Given the description of an element on the screen output the (x, y) to click on. 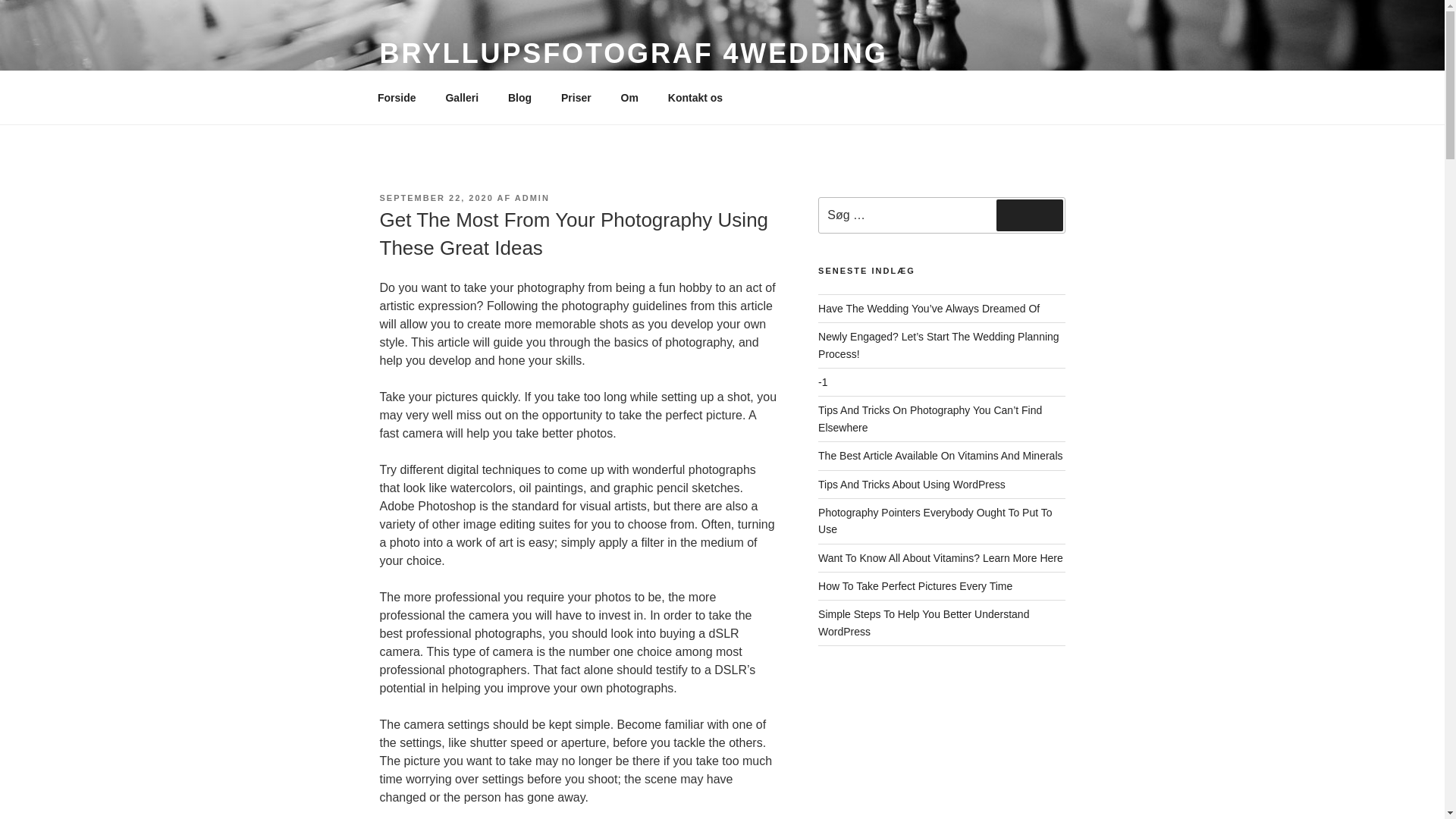
Forside (396, 97)
Om (628, 97)
BRYLLUPSFOTOGRAF 4WEDDING (632, 52)
Priser (575, 97)
Photography Pointers Everybody Ought To Put To Use (934, 520)
Want To Know All About Vitamins? Learn More Here (940, 558)
ADMIN (532, 197)
Simple Steps To Help You Better Understand WordPress (923, 622)
Kontakt os (694, 97)
Blog (519, 97)
